Given the description of an element on the screen output the (x, y) to click on. 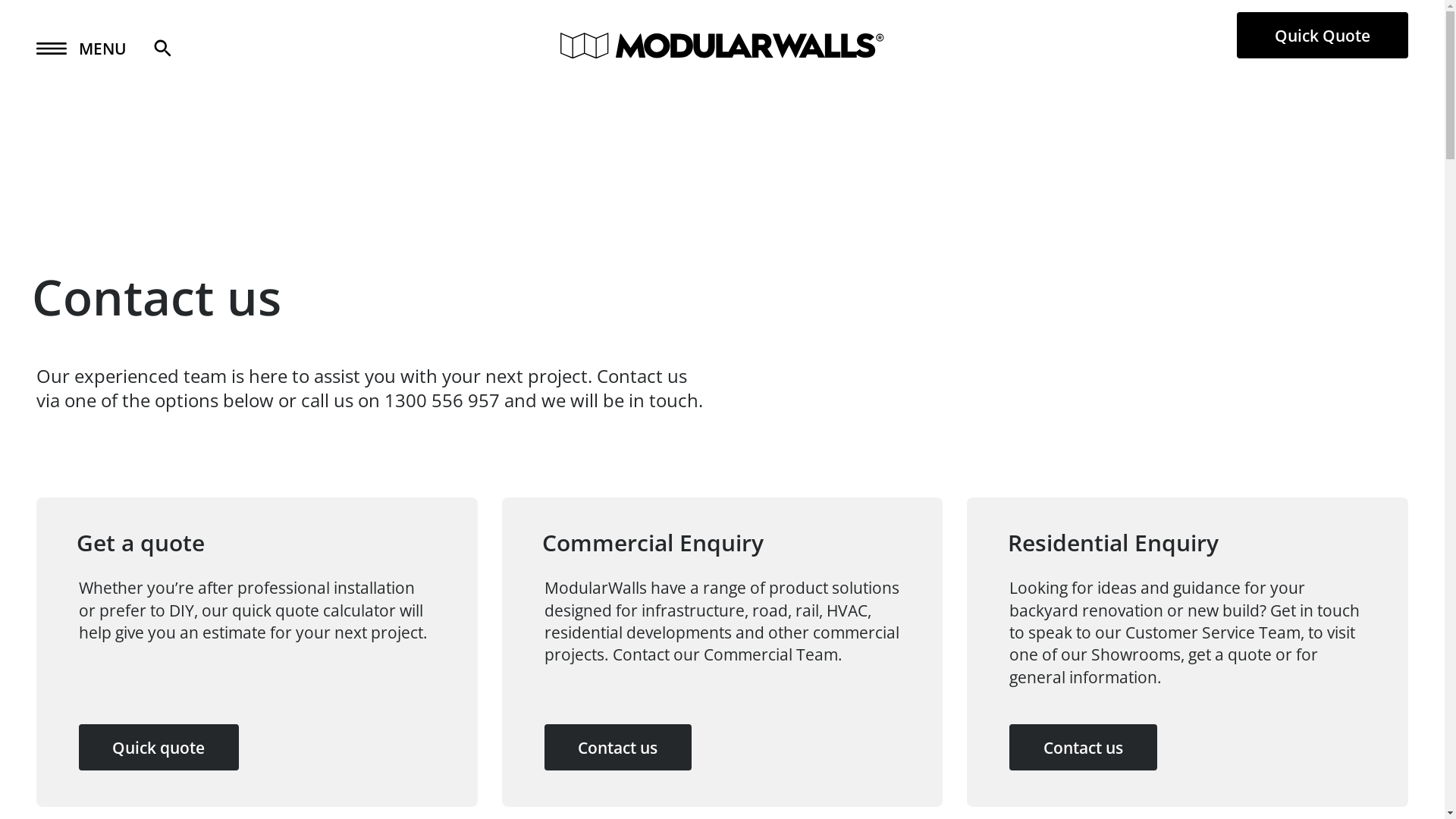
Quick quote Element type: text (158, 747)
Contact us Element type: text (1082, 747)
Next Page Element type: text (58, 19)
Contact us Element type: text (617, 747)
MENU
Menu Element type: text (82, 47)
Quick Quote Element type: text (1322, 35)
Previous Page Element type: text (71, 19)
Search Element type: text (198, 47)
